Given the description of an element on the screen output the (x, y) to click on. 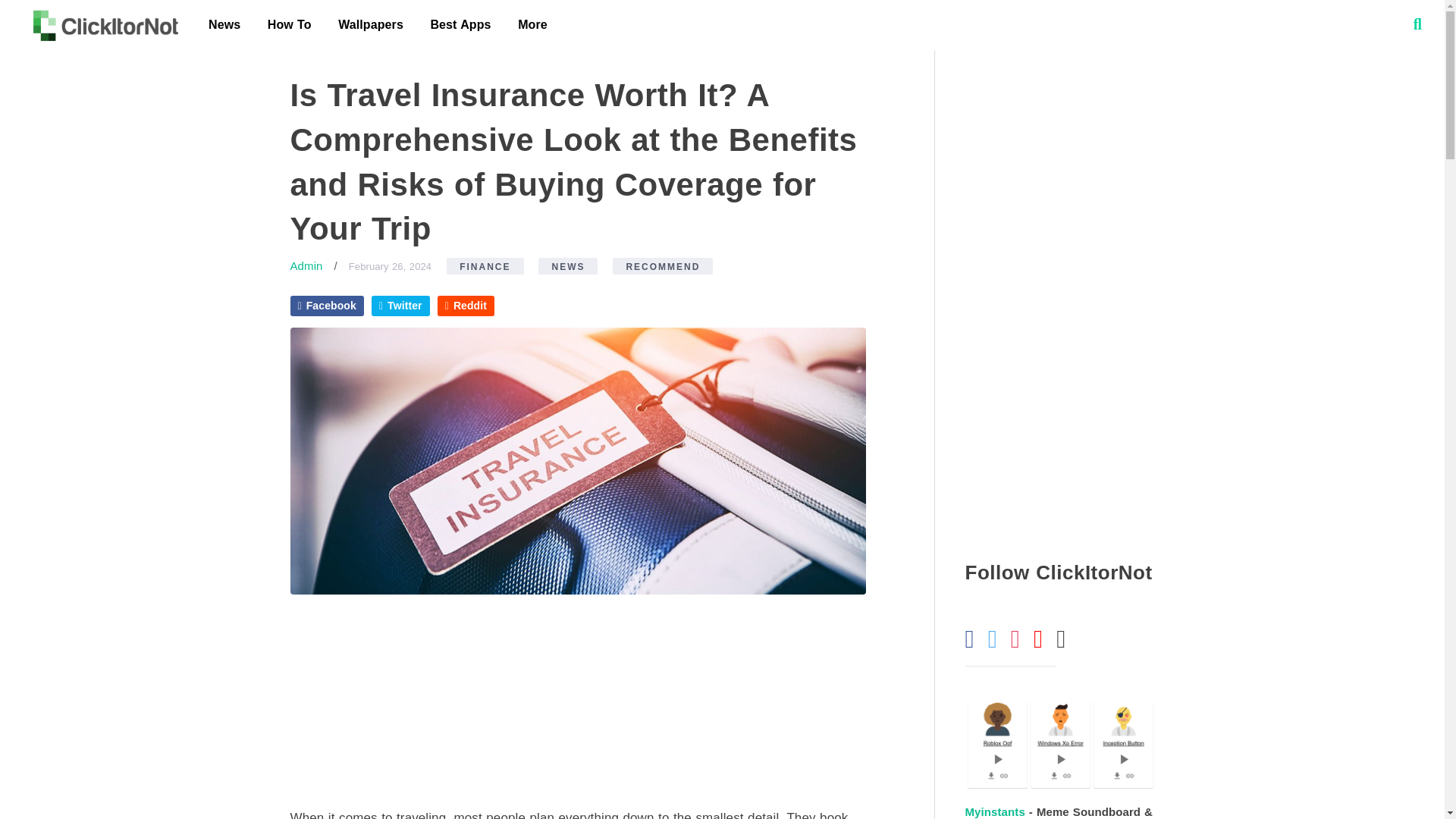
Reddit (466, 305)
News (223, 24)
Advertisement (1058, 300)
Admin (305, 265)
More (532, 24)
RECOMMEND (662, 265)
Twitter (400, 305)
Facebook (325, 305)
How To (289, 24)
FINANCE (484, 265)
Wallpapers (370, 24)
NEWS (567, 265)
Advertisement (576, 700)
